Given the description of an element on the screen output the (x, y) to click on. 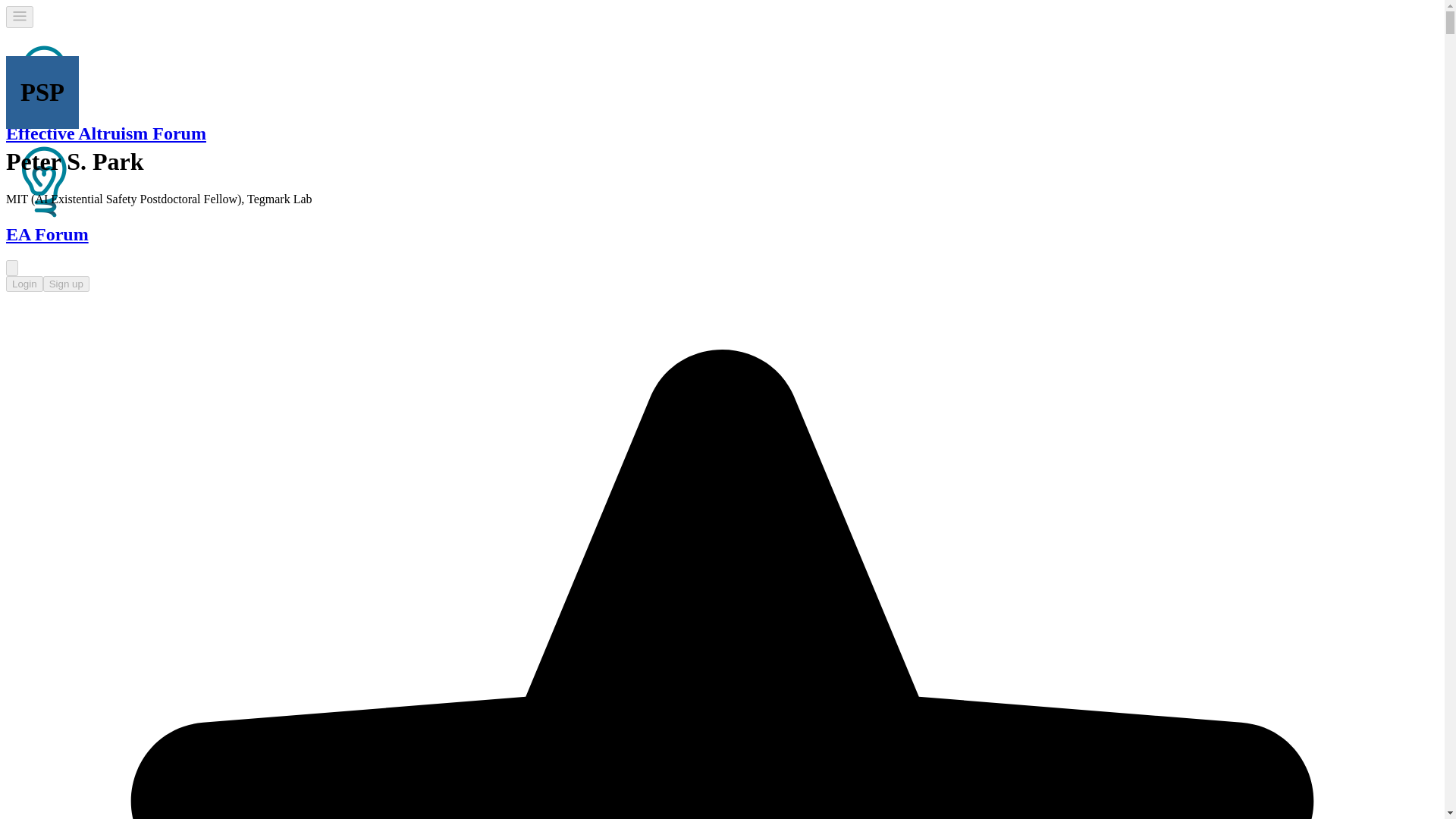
Effective Altruism Forum (43, 182)
Effective Altruism Forum (43, 80)
Login (24, 283)
PSP (41, 92)
Sign up (65, 283)
